Given the description of an element on the screen output the (x, y) to click on. 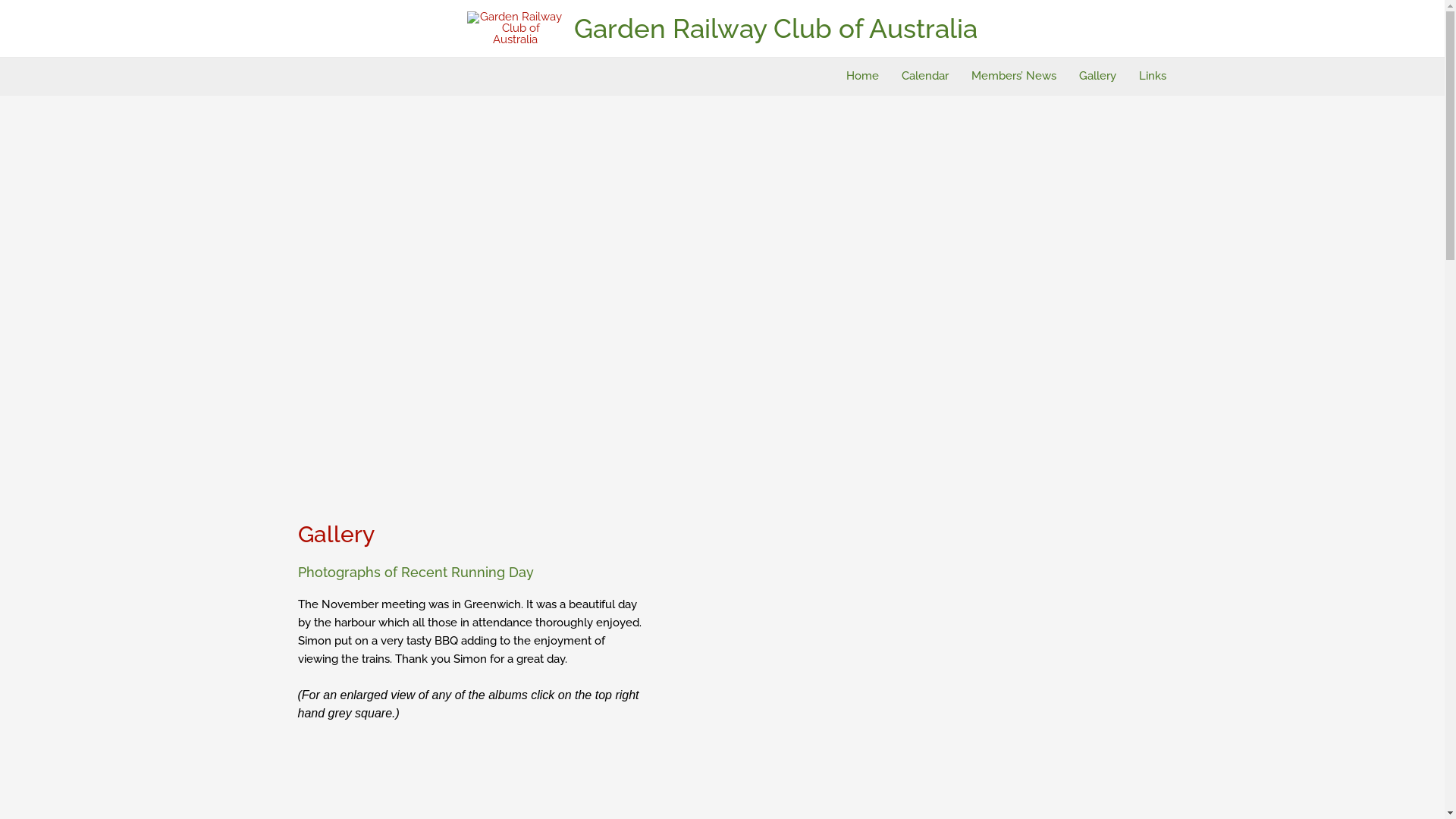
Calendar Element type: text (925, 75)
Gallery Element type: text (1097, 75)
Garden Railway Club of Australia Element type: text (775, 27)
Links Element type: text (1151, 75)
Home Element type: text (861, 75)
